Given the description of an element on the screen output the (x, y) to click on. 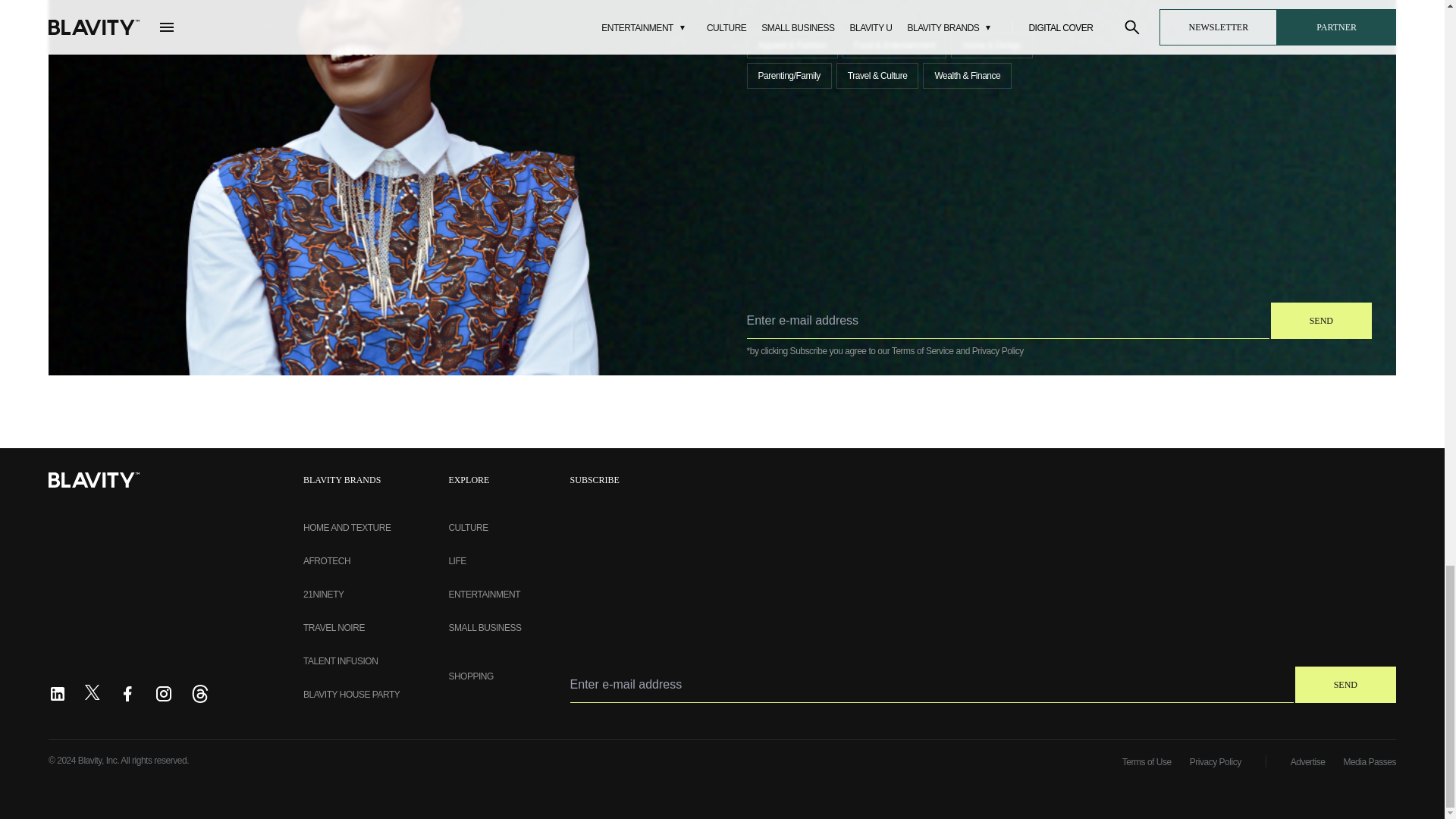
Blavity News logo (93, 479)
send (1345, 684)
send (1321, 320)
